Given the description of an element on the screen output the (x, y) to click on. 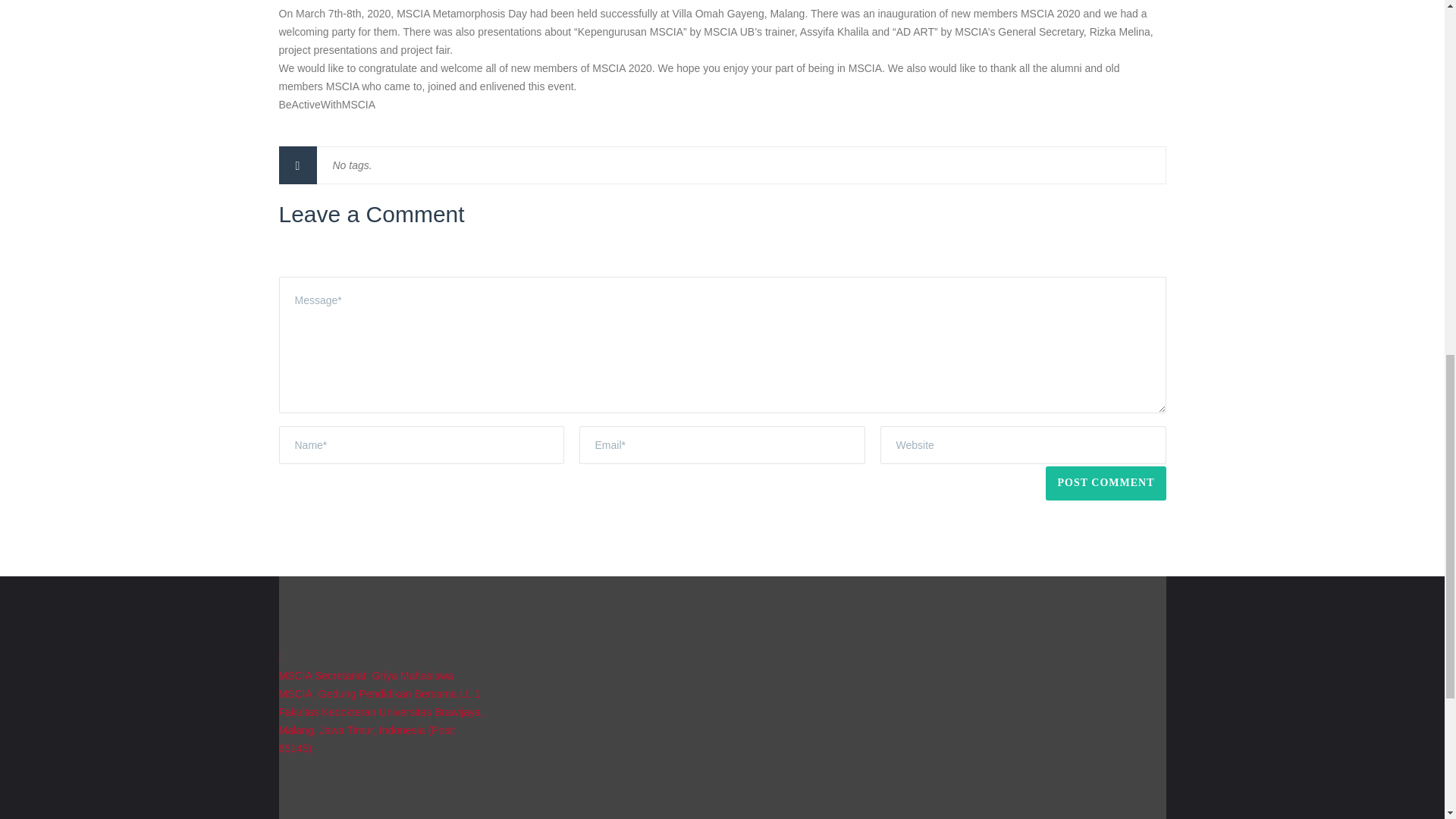
Post Comment (1105, 483)
Post Comment (1105, 483)
